Given the description of an element on the screen output the (x, y) to click on. 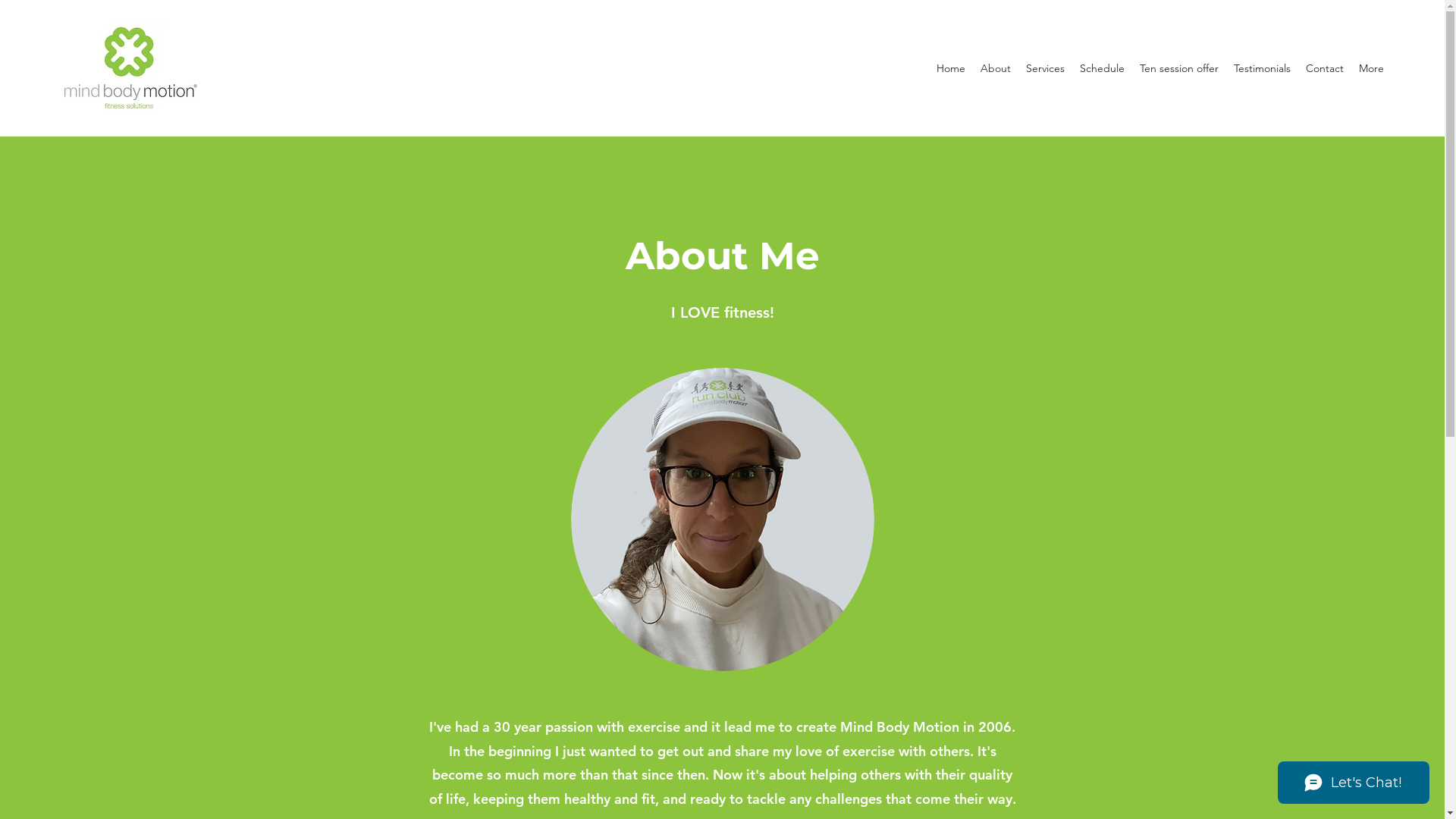
Ten session offer Element type: text (1179, 67)
Schedule Element type: text (1102, 67)
Services Element type: text (1045, 67)
Contact Element type: text (1324, 67)
Testimonials Element type: text (1262, 67)
Home Element type: text (950, 67)
About Element type: text (995, 67)
